Given the description of an element on the screen output the (x, y) to click on. 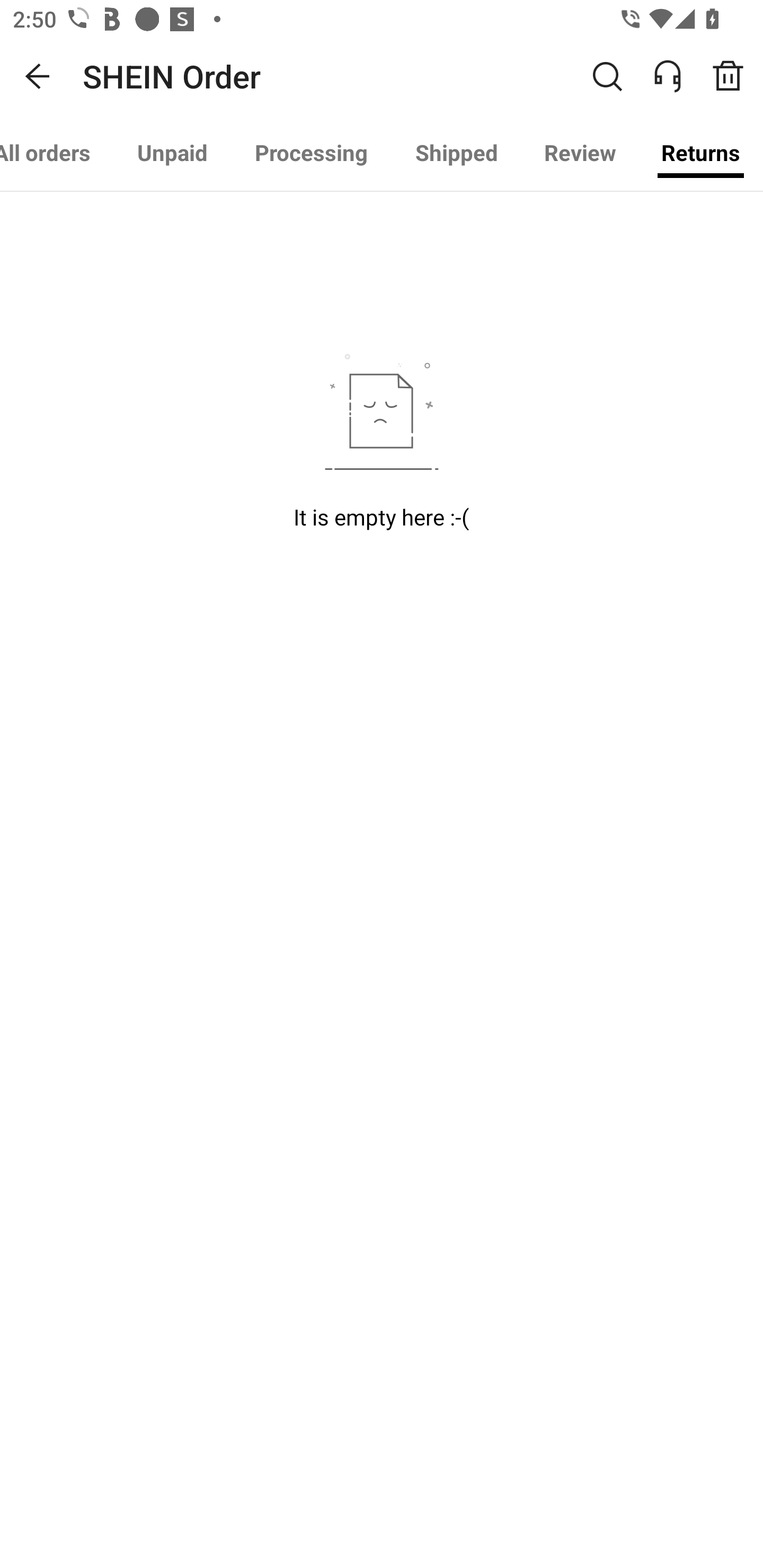
Navigate up (38, 75)
Search (607, 75)
ONLINE SERVICE (676, 75)
Order Recycle Bin (734, 75)
All orders (57, 152)
Unpaid (171, 152)
Processing (310, 152)
Shipped (456, 152)
Review (579, 152)
Returns (700, 152)
